Given the description of an element on the screen output the (x, y) to click on. 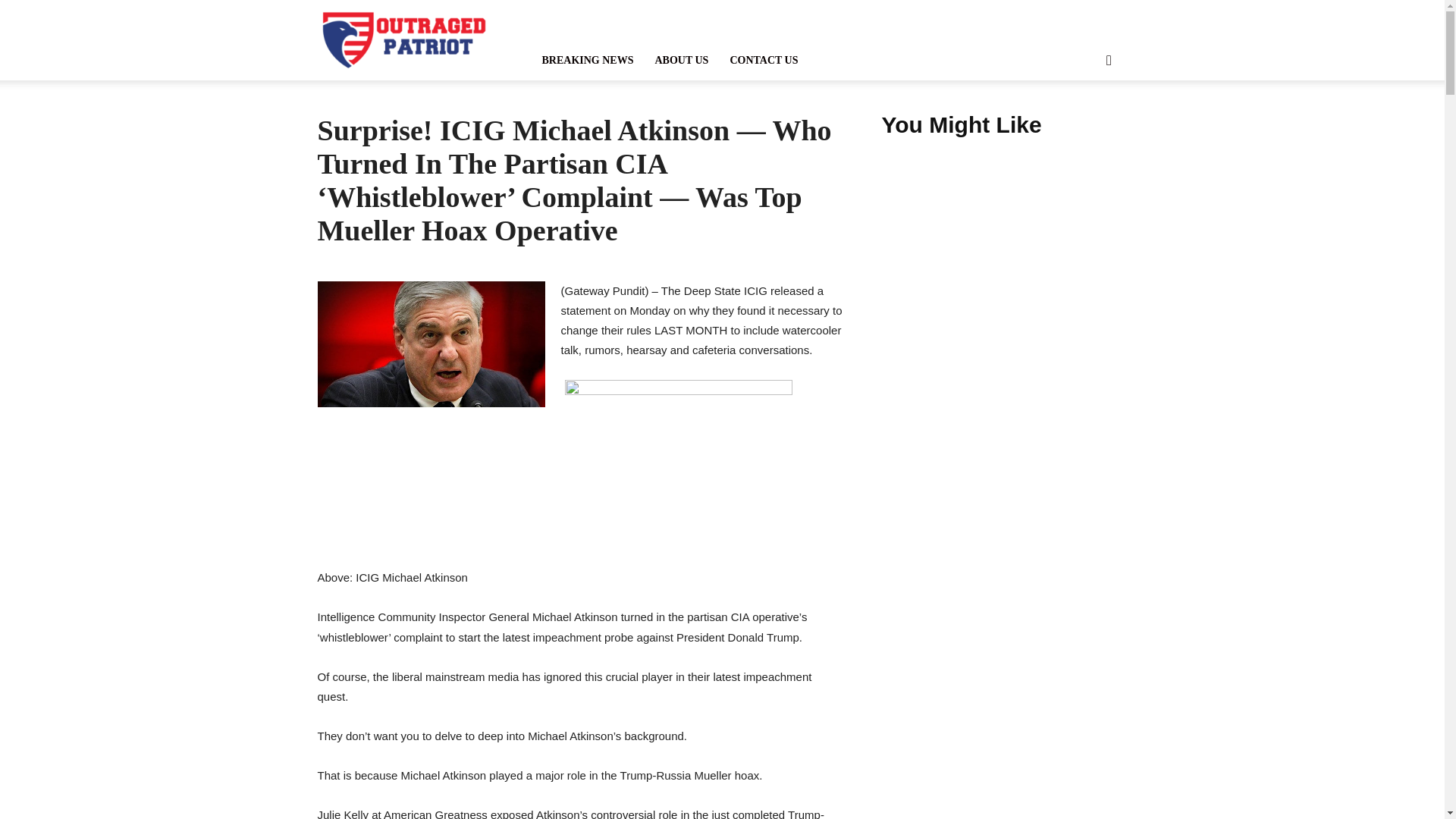
BREAKING NEWS (587, 60)
ABOUT US (681, 60)
CONTACT US (763, 60)
Search (1085, 122)
